Given the description of an element on the screen output the (x, y) to click on. 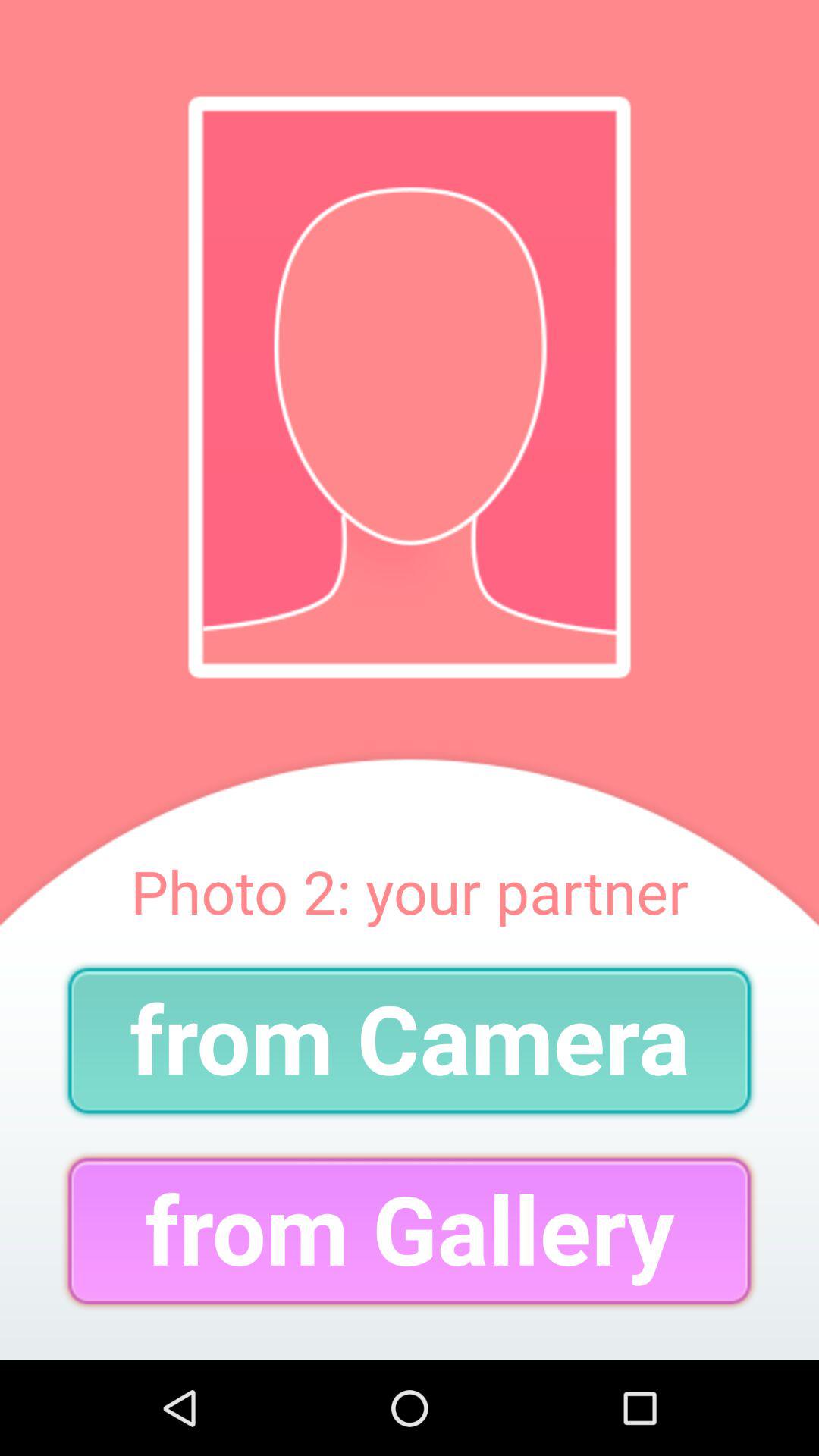
flip until from gallery (409, 1230)
